Given the description of an element on the screen output the (x, y) to click on. 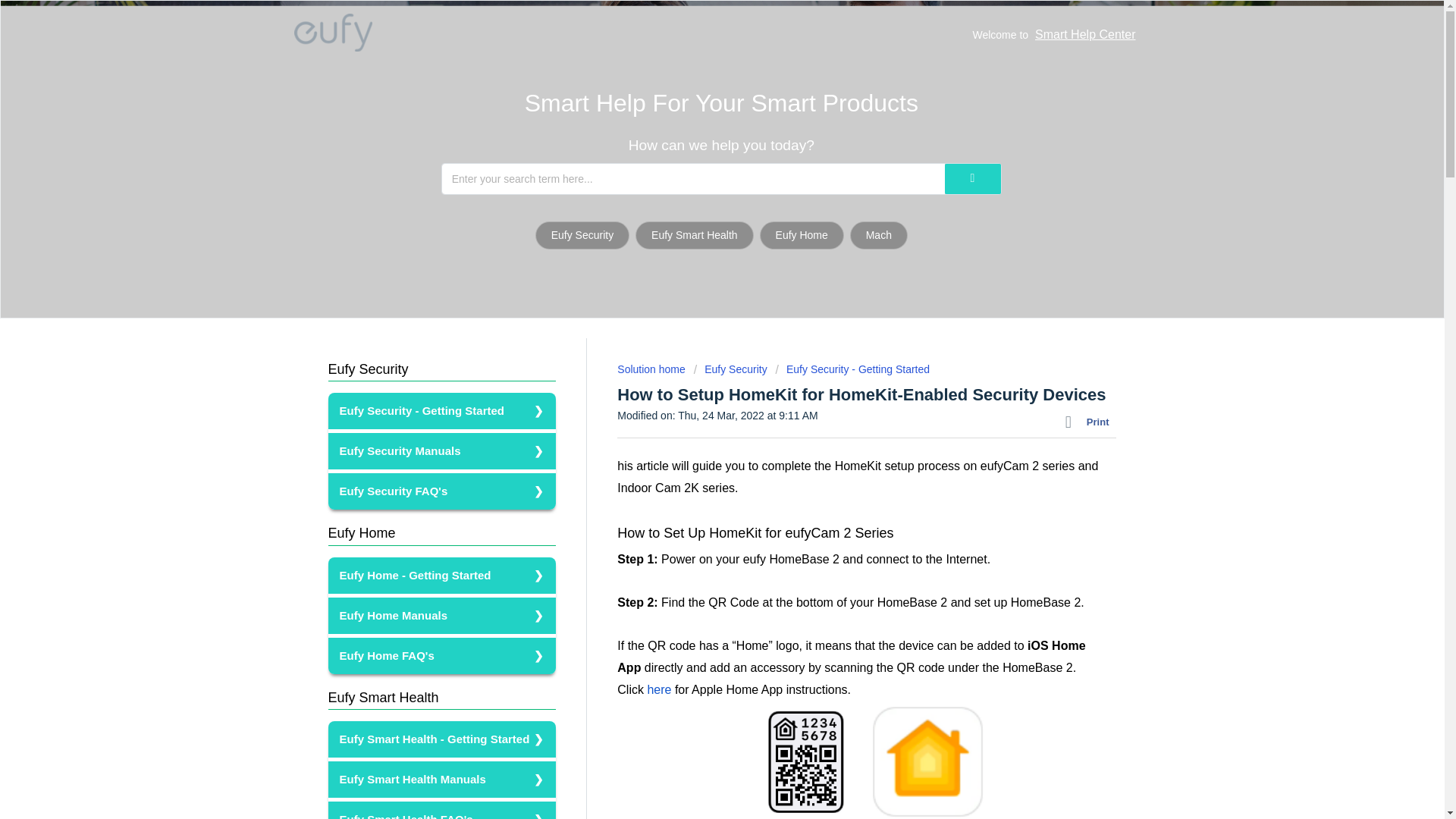
Eufy Smart Health (694, 235)
Mach (878, 235)
Smart Help Center (1085, 33)
Eufy Security (581, 235)
Eufy Home (802, 235)
Eufy Security (367, 368)
Print this Article (1090, 422)
